Given the description of an element on the screen output the (x, y) to click on. 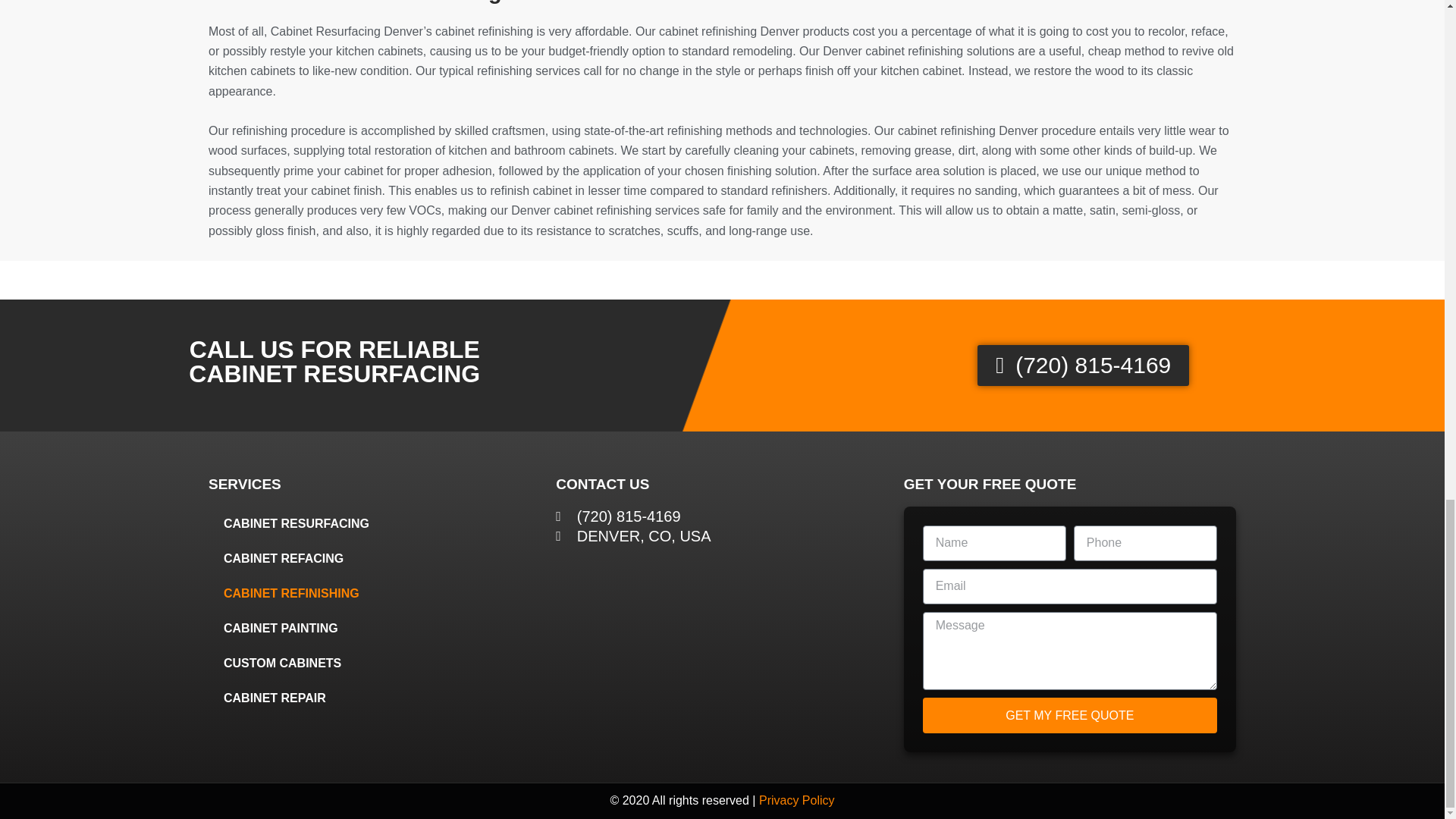
CABINET PAINTING (374, 628)
CABINET REPAIR (374, 697)
CABINET REFINISHING (374, 593)
CABINET REFACING (374, 558)
CUSTOM CABINETS (374, 663)
CABINET RESURFACING (374, 523)
